Given the description of an element on the screen output the (x, y) to click on. 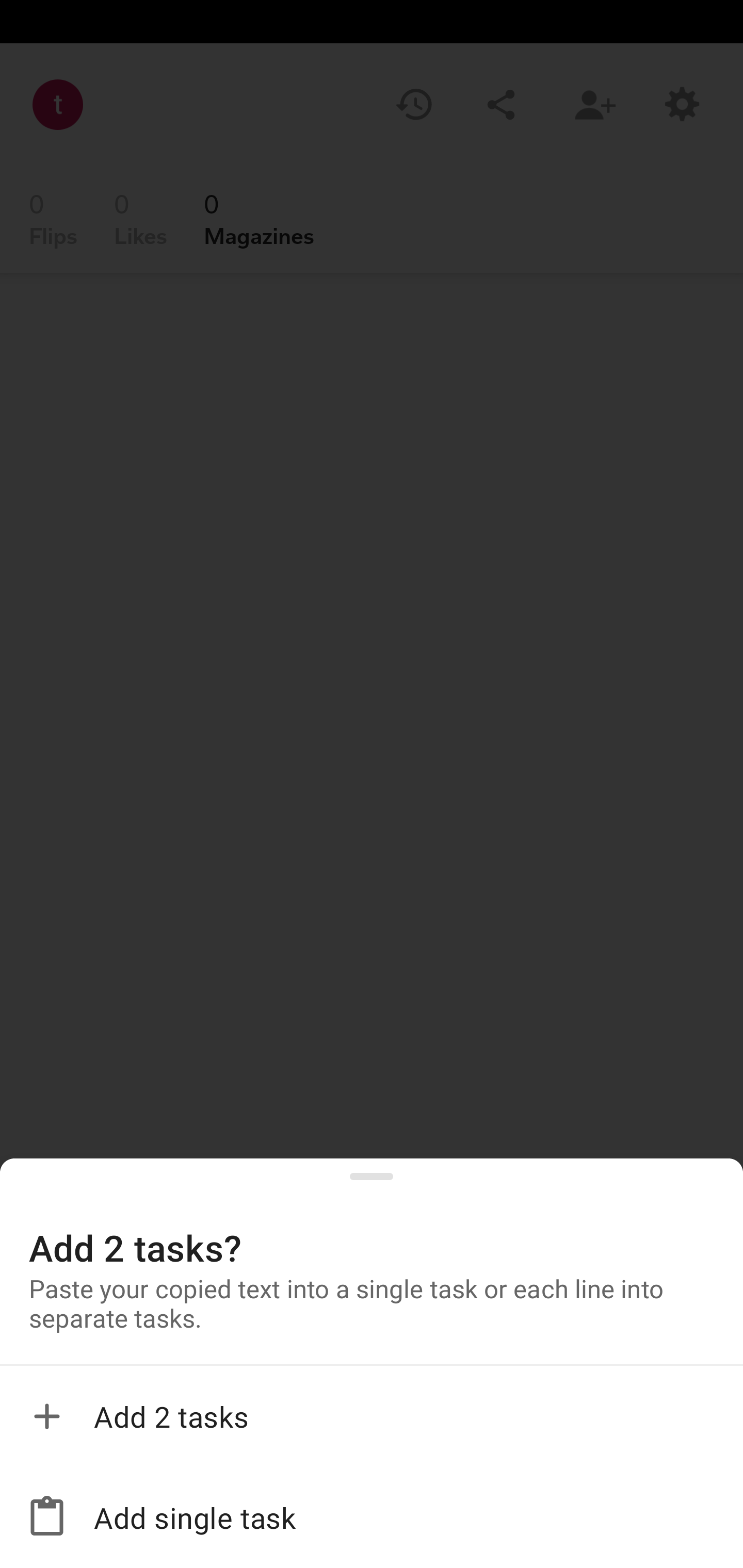
Add 2 tasks (371, 1416)
Add single task (371, 1517)
